Given the description of an element on the screen output the (x, y) to click on. 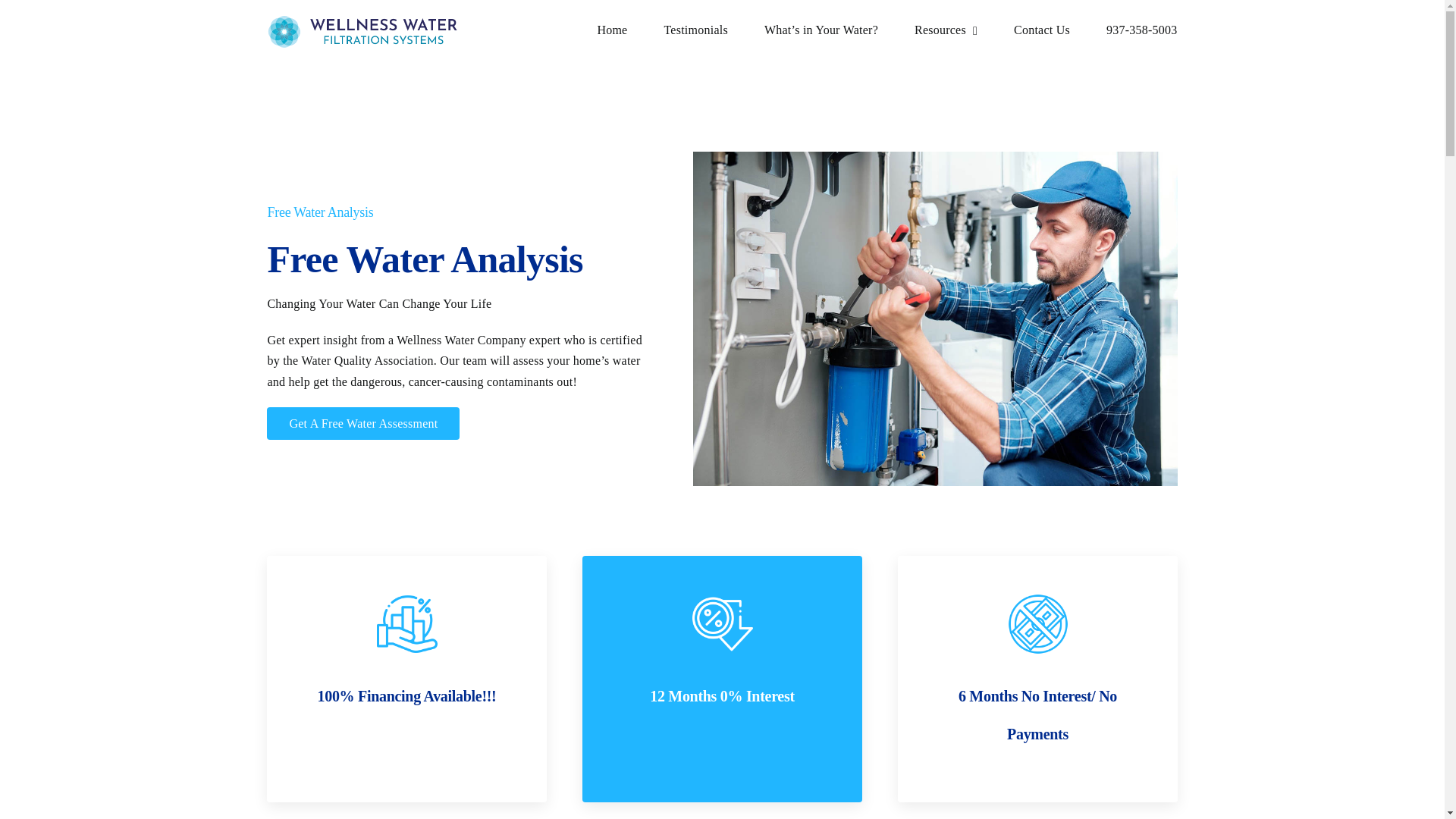
Testimonials (694, 30)
Contact Us (1041, 30)
Get A Free Water Assessment (363, 423)
937-358-5003 (1141, 30)
Resources (945, 30)
